Given the description of an element on the screen output the (x, y) to click on. 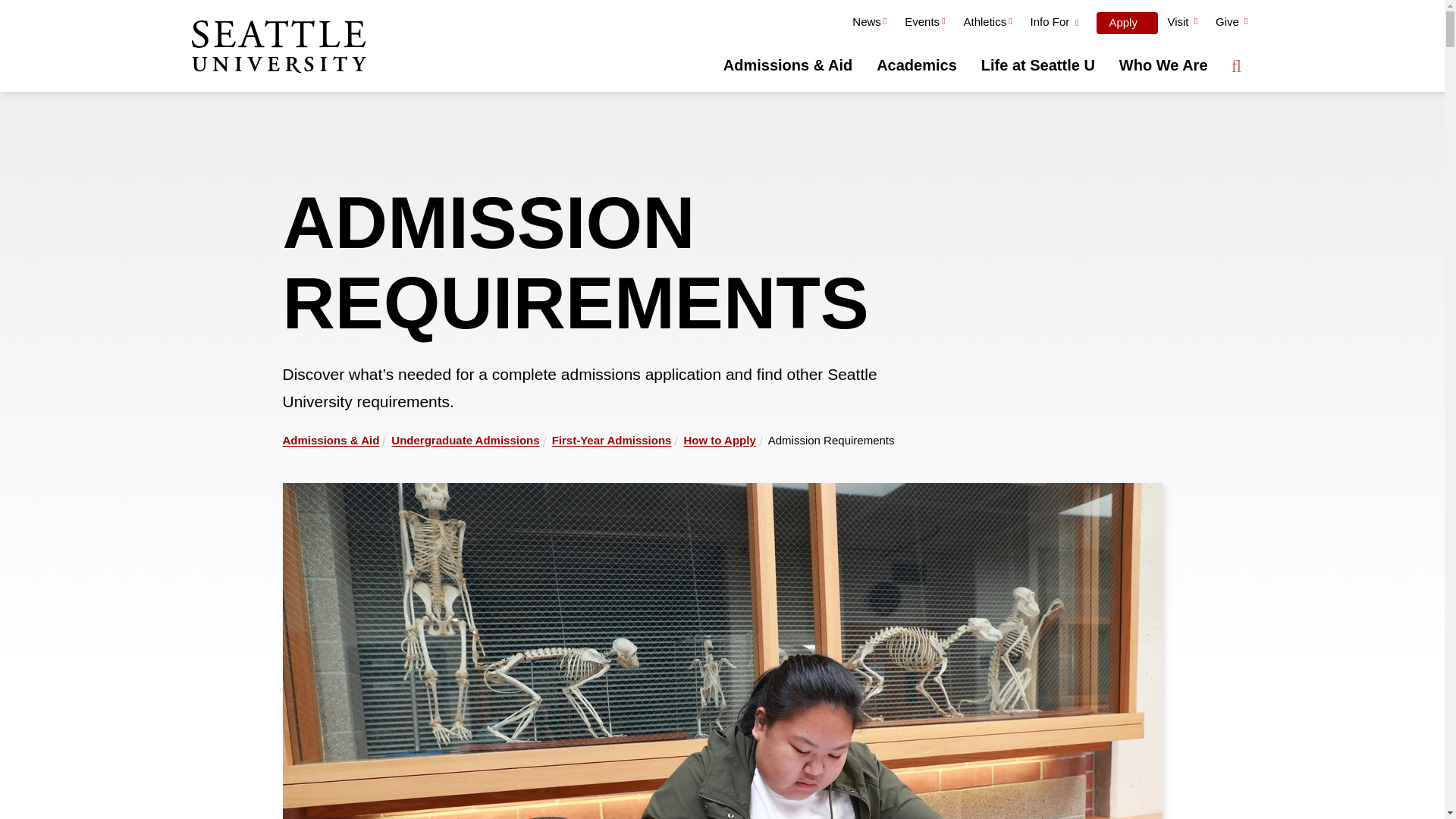
Give (1231, 23)
Events (924, 23)
Life at Seattle U (1037, 65)
Click to visit the home page (277, 47)
Athletics (986, 23)
News (869, 23)
Visit (1182, 23)
Apply (1126, 23)
Academics (916, 65)
